Given the description of an element on the screen output the (x, y) to click on. 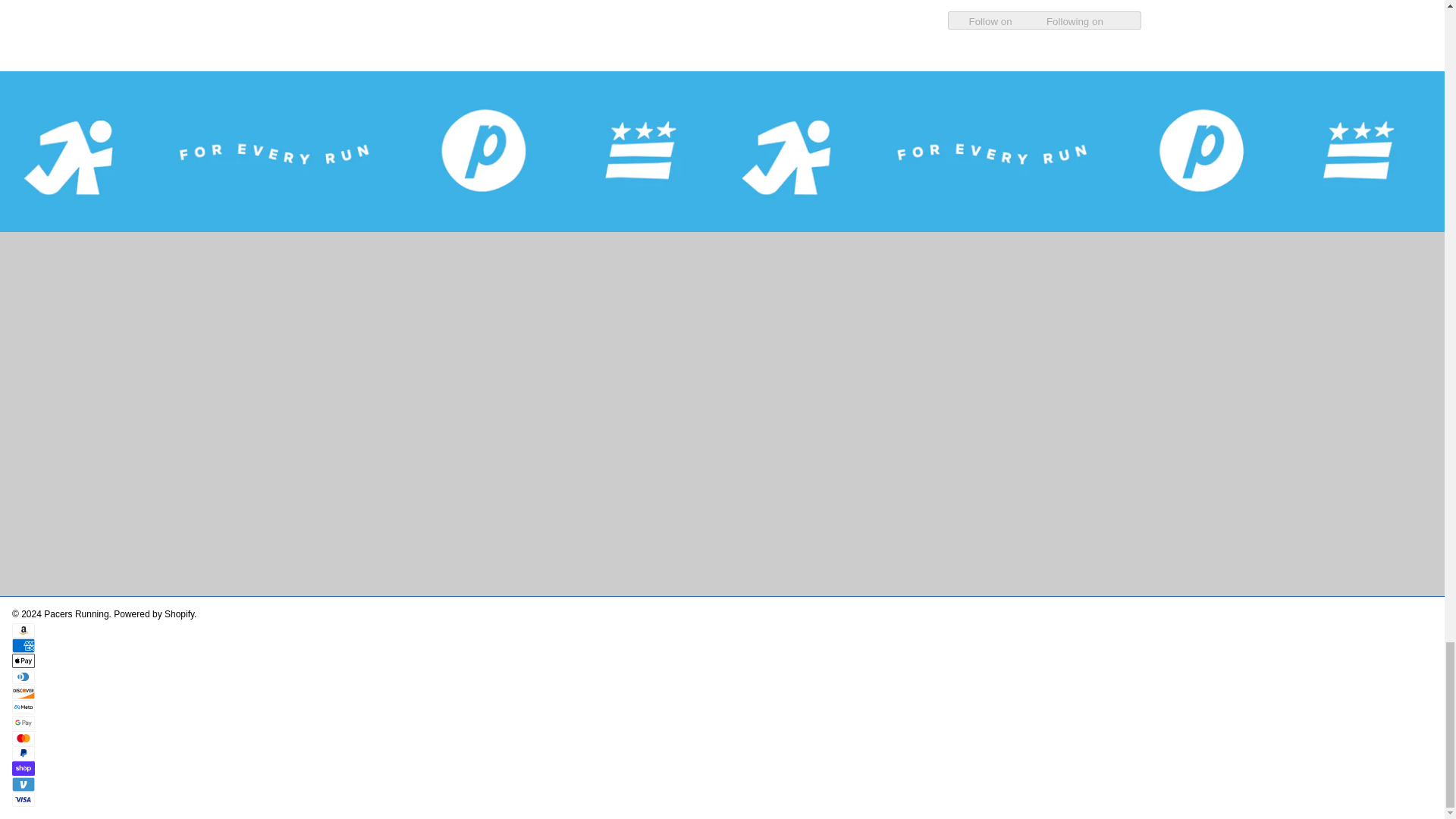
Apple Pay (22, 660)
Venmo (22, 784)
PayPal (22, 753)
Mastercard (22, 738)
Shop Pay (22, 768)
American Express (22, 645)
Meta Pay (22, 707)
Amazon (22, 630)
Discover (22, 691)
Google Pay (22, 722)
